Given the description of an element on the screen output the (x, y) to click on. 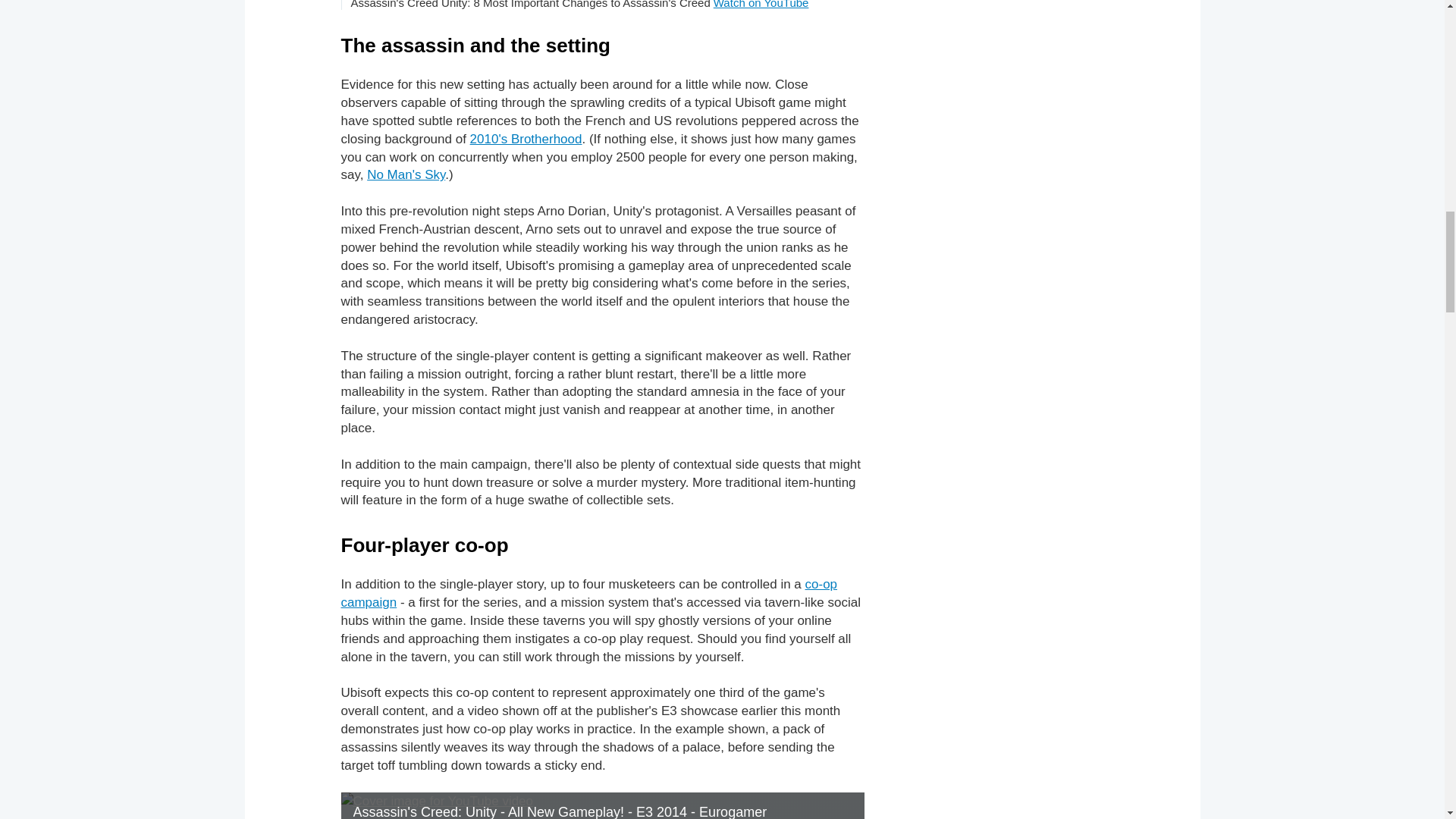
No Man's Sky (405, 174)
co-op campaign (589, 593)
Watch on YouTube (761, 4)
2010's Brotherhood (526, 138)
